Given the description of an element on the screen output the (x, y) to click on. 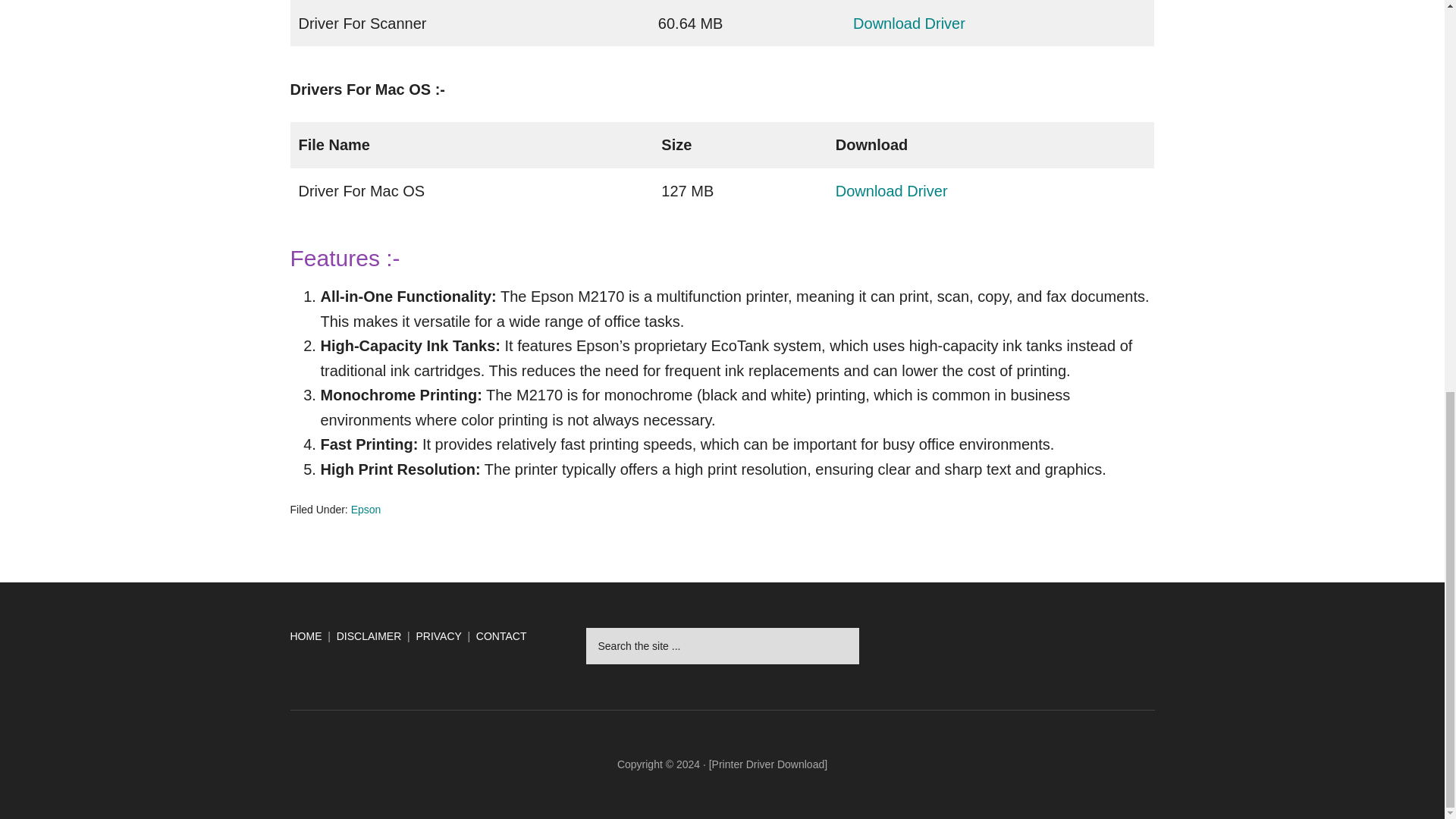
PRIVACY (437, 635)
Download Driver (891, 190)
DISCLAIMER (368, 635)
Download Driver (909, 23)
HOME (305, 635)
Epson (365, 509)
CONTACT (501, 635)
